Given the description of an element on the screen output the (x, y) to click on. 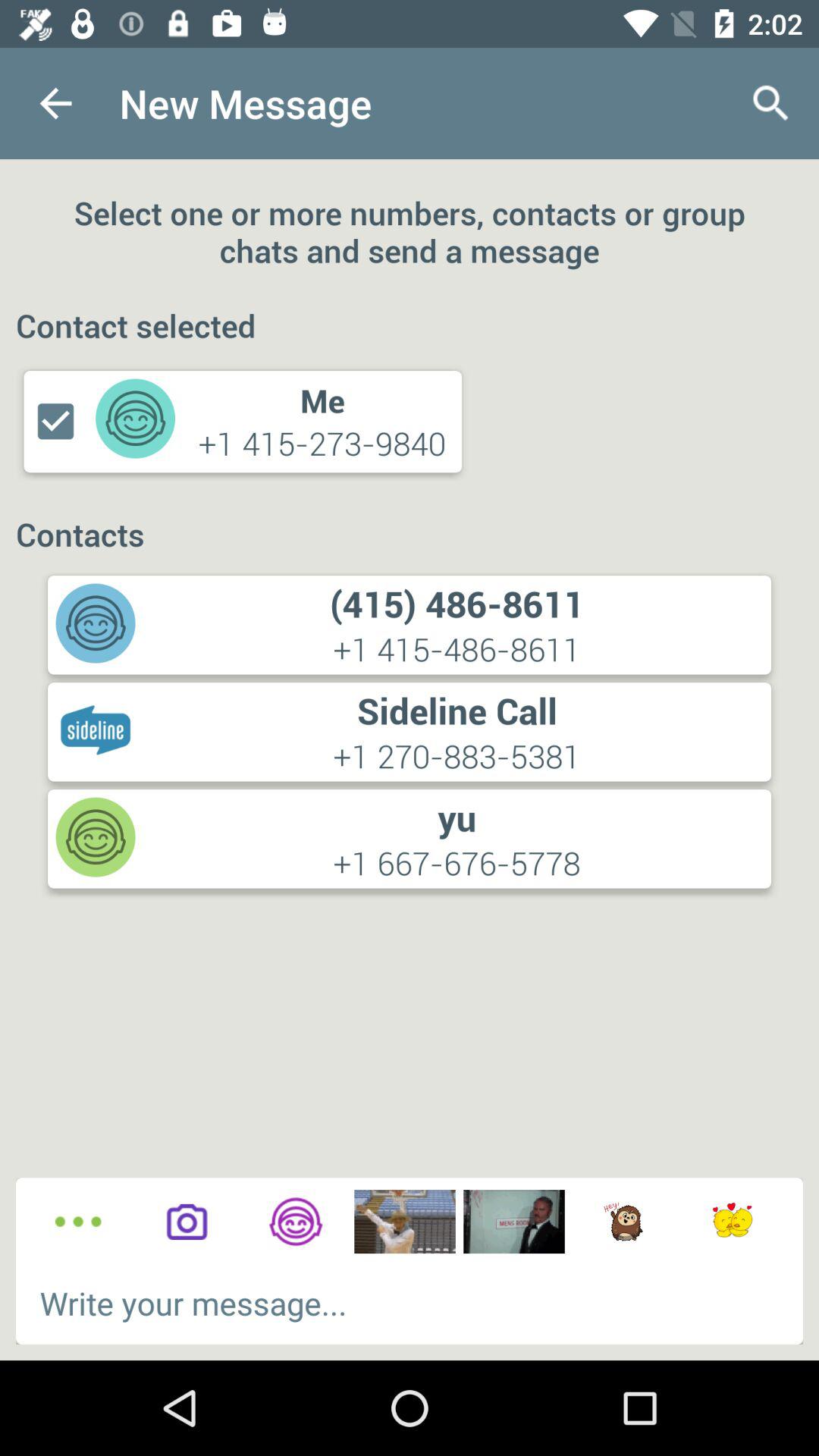
emoji love (732, 1221)
